Given the description of an element on the screen output the (x, y) to click on. 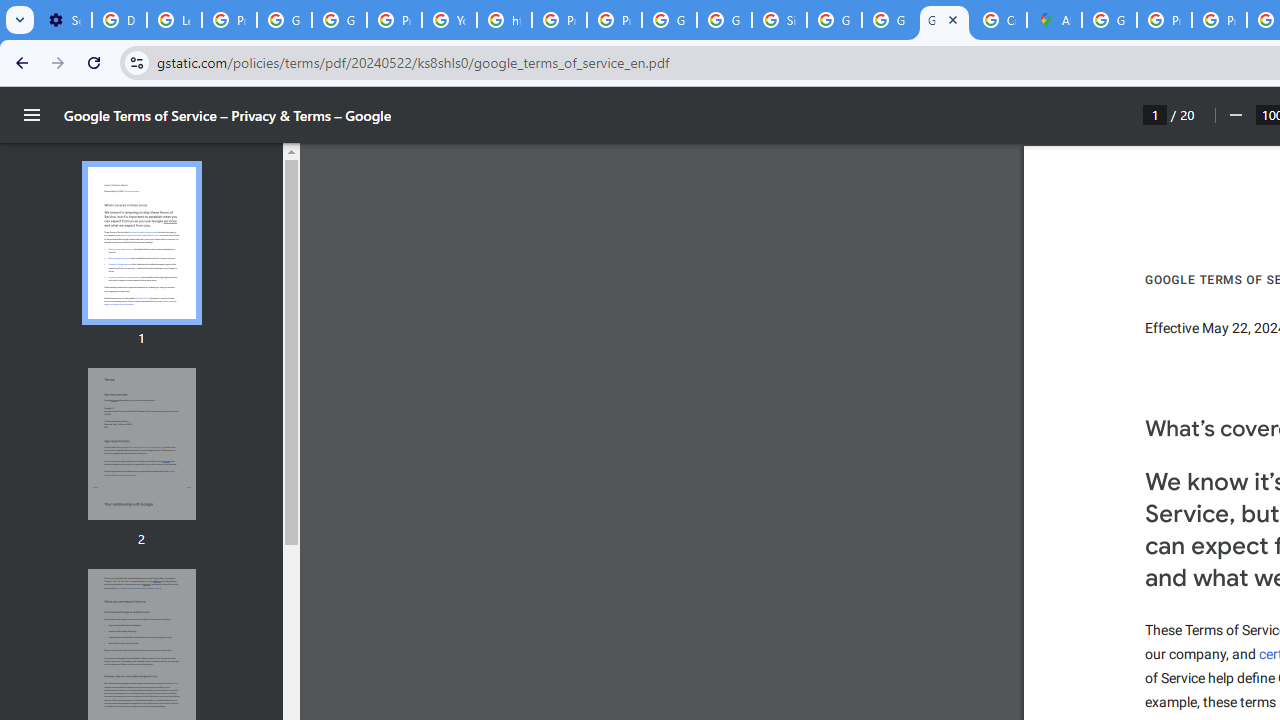
Sign in - Google Accounts (779, 20)
Settings - On startup (64, 20)
Privacy Help Center - Policies Help (1163, 20)
Create your Google Account (998, 20)
Privacy Help Center - Policies Help (1218, 20)
Menu (31, 115)
